Given the description of an element on the screen output the (x, y) to click on. 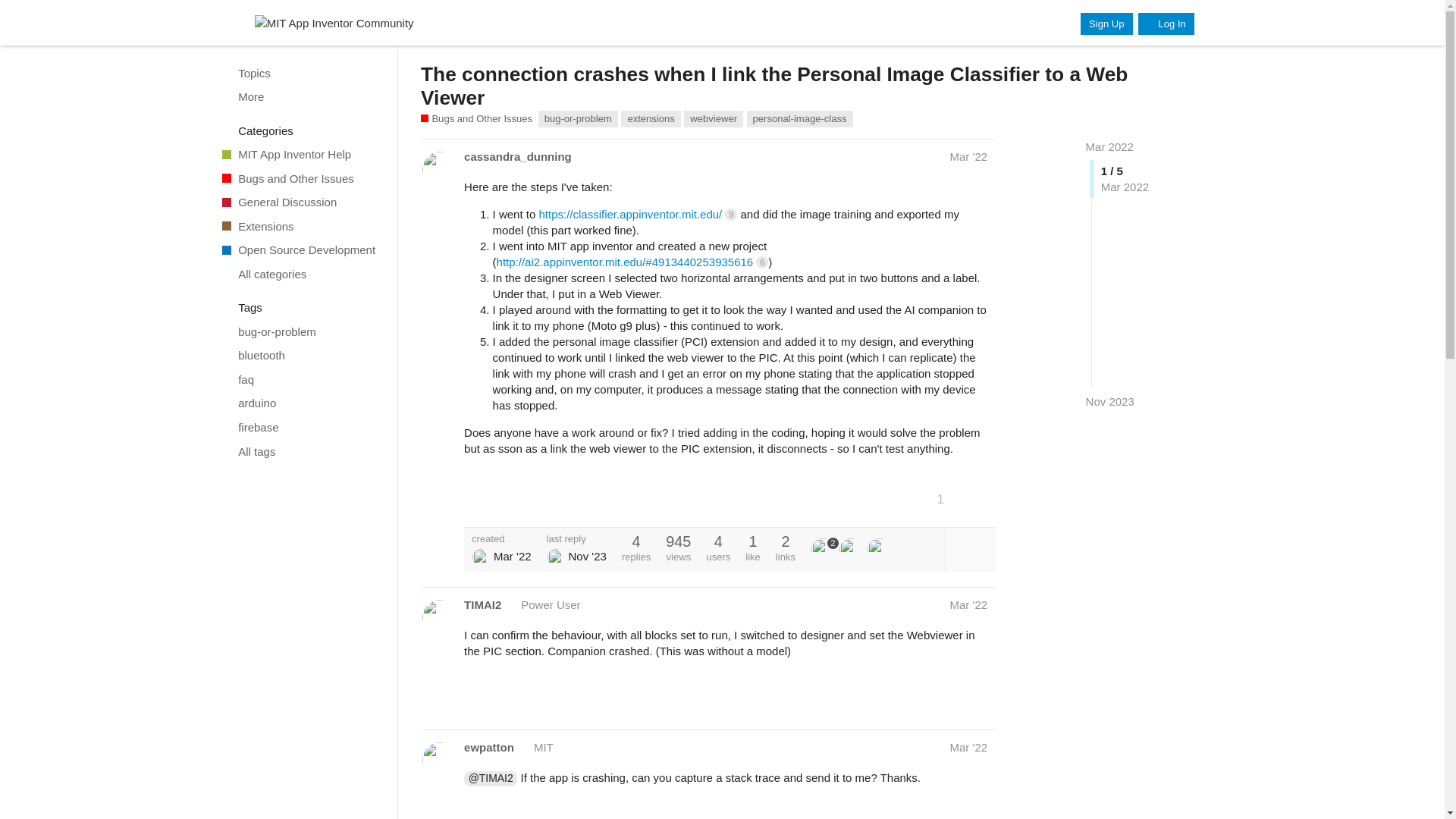
Log In (1165, 24)
Toggle section (301, 307)
Report potential issues with App Inventor in this category. (301, 178)
More (301, 96)
bluetooth (301, 355)
Nov 2023 (1110, 401)
firebase (301, 427)
Bugs and Other Issues (301, 178)
All categories (301, 274)
Keyboard Shortcuts (378, 805)
MIT App Inventor Help (301, 154)
Report potential issues with App Inventor in this category. (476, 119)
bug-or-problem (301, 331)
All tags (301, 450)
Tags (301, 307)
